Given the description of an element on the screen output the (x, y) to click on. 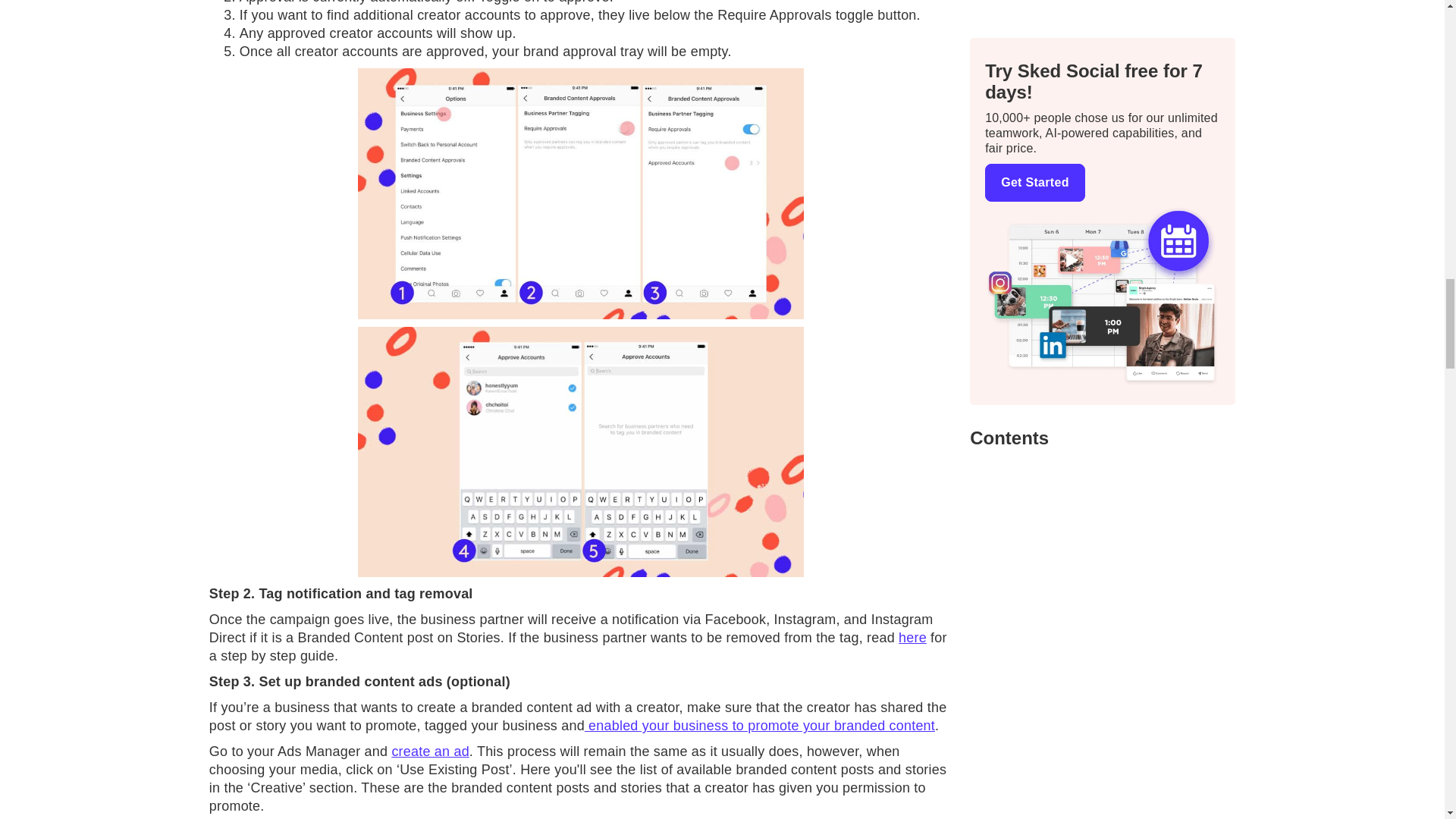
enabled your business to promote your branded content (759, 725)
create an ad (429, 751)
here (912, 637)
